Given the description of an element on the screen output the (x, y) to click on. 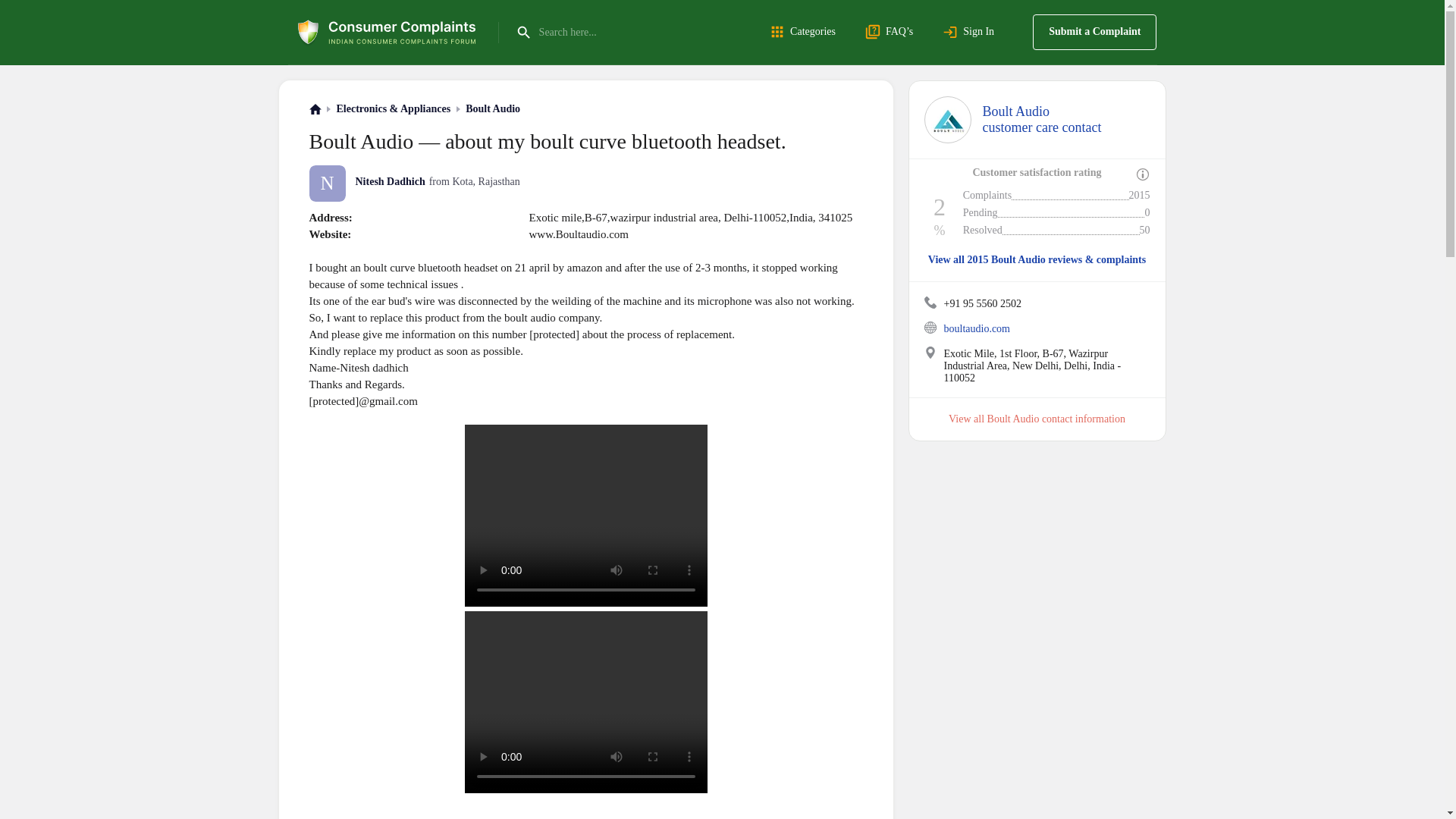
Sign In (971, 31)
boultaudio.com (1042, 119)
Boult Audio Phone (976, 328)
Categories (929, 302)
Boult Audio contact information (805, 31)
Submit a Complaint (1056, 419)
Boult Audio Customer Care Service (1094, 31)
Boult Audio (947, 119)
Boult Audio Website (492, 109)
Boult Audio Address (929, 327)
